Given the description of an element on the screen output the (x, y) to click on. 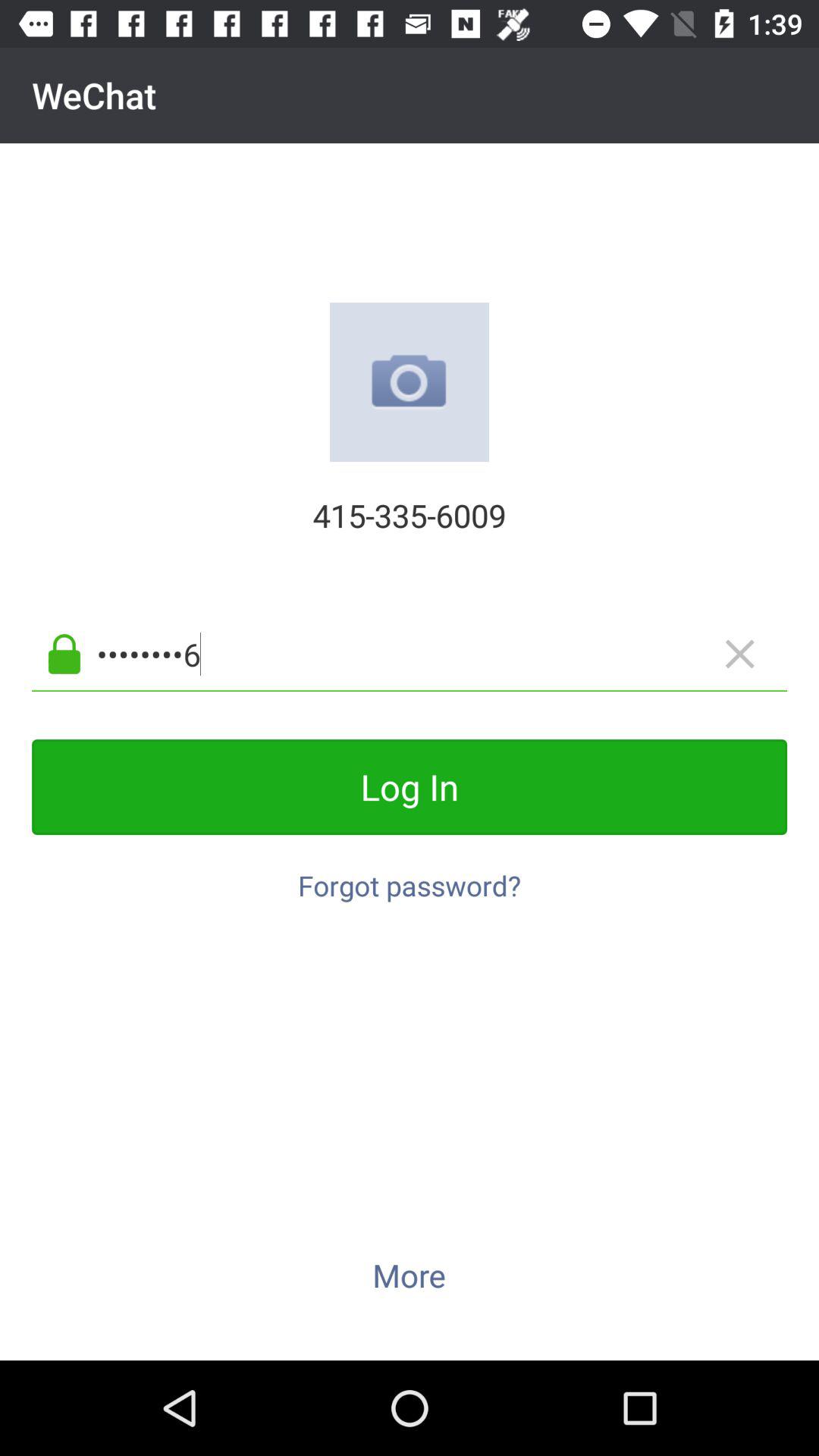
turn on item below log in icon (409, 877)
